Given the description of an element on the screen output the (x, y) to click on. 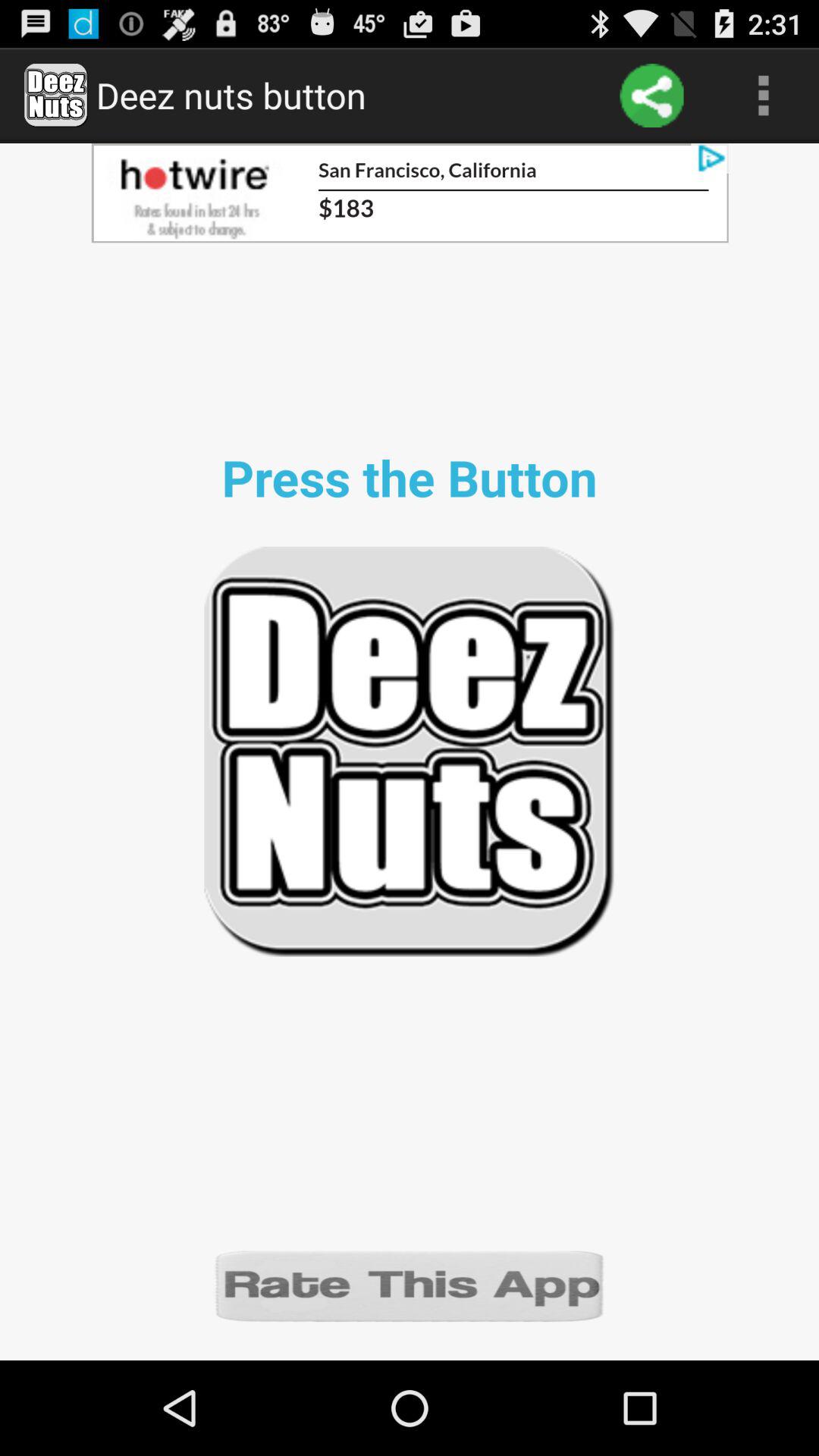
review (409, 1285)
